Given the description of an element on the screen output the (x, y) to click on. 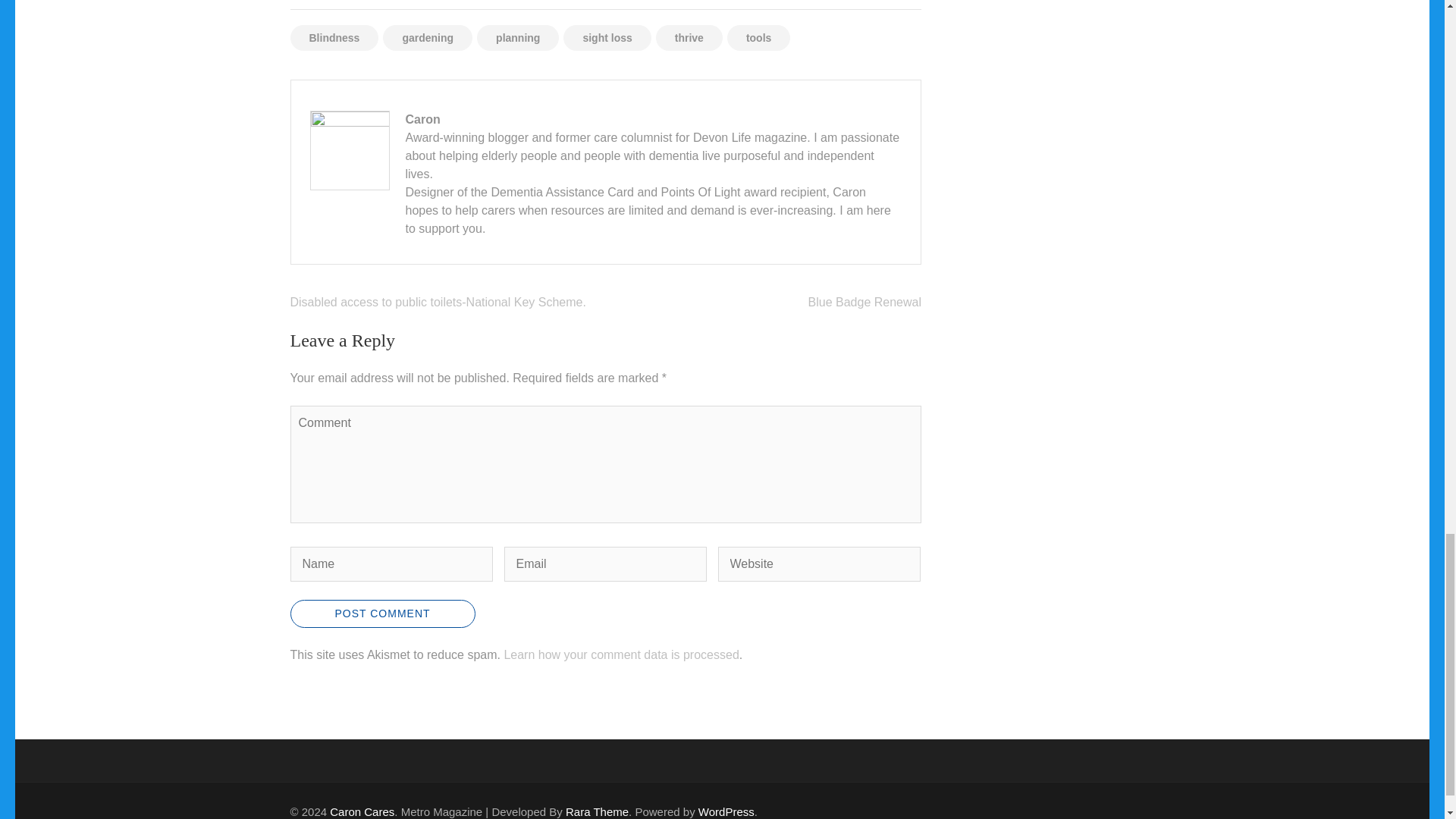
thrive (689, 37)
Disabled access to public toilets-National Key Scheme. (437, 301)
tools (758, 37)
Blindness (333, 37)
gardening (426, 37)
sight loss (606, 37)
Post Comment (381, 613)
planning (518, 37)
